Given the description of an element on the screen output the (x, y) to click on. 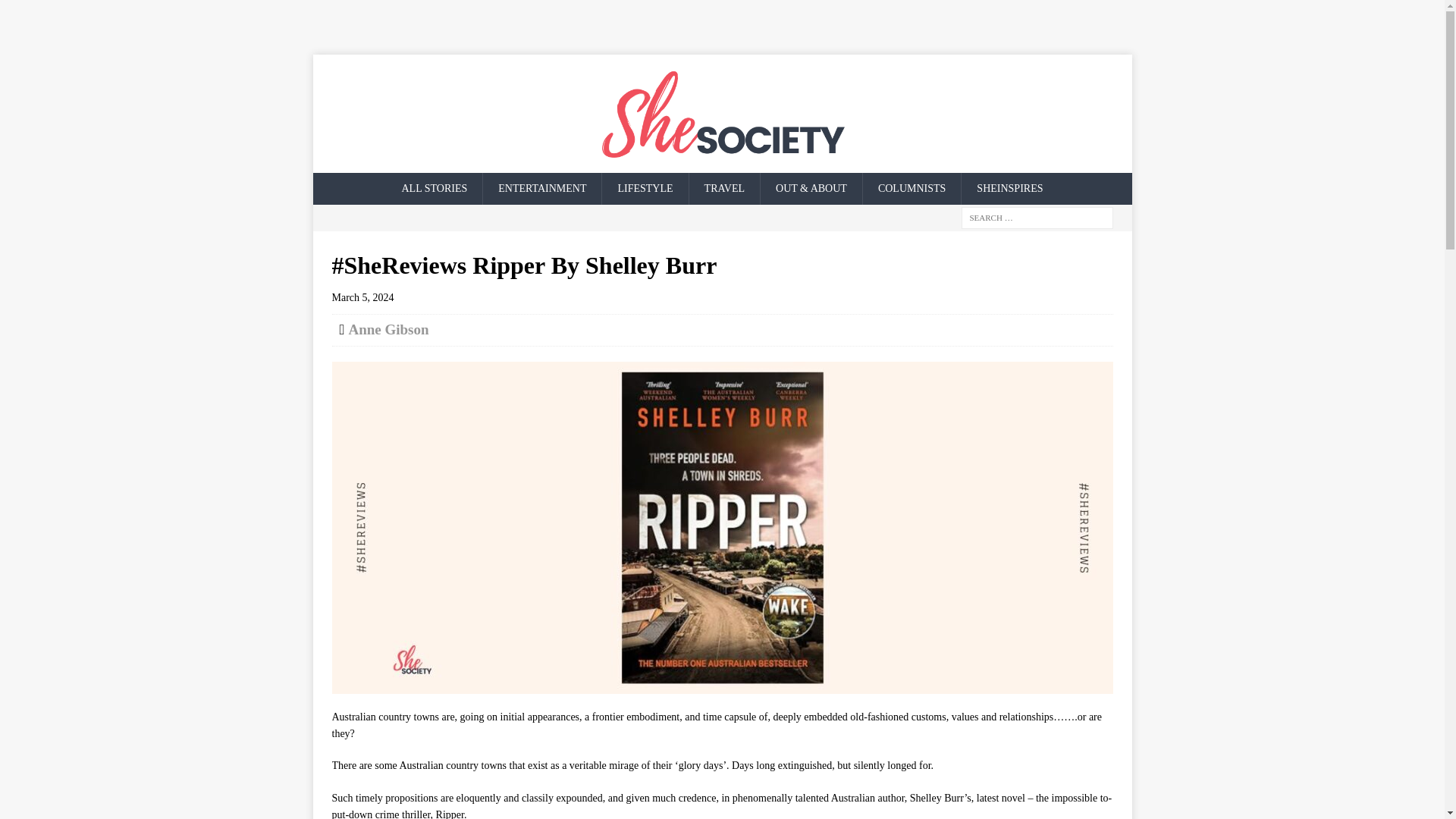
ALL STORIES (435, 188)
ENTERTAINMENT (541, 188)
SheSociety (722, 113)
